Given the description of an element on the screen output the (x, y) to click on. 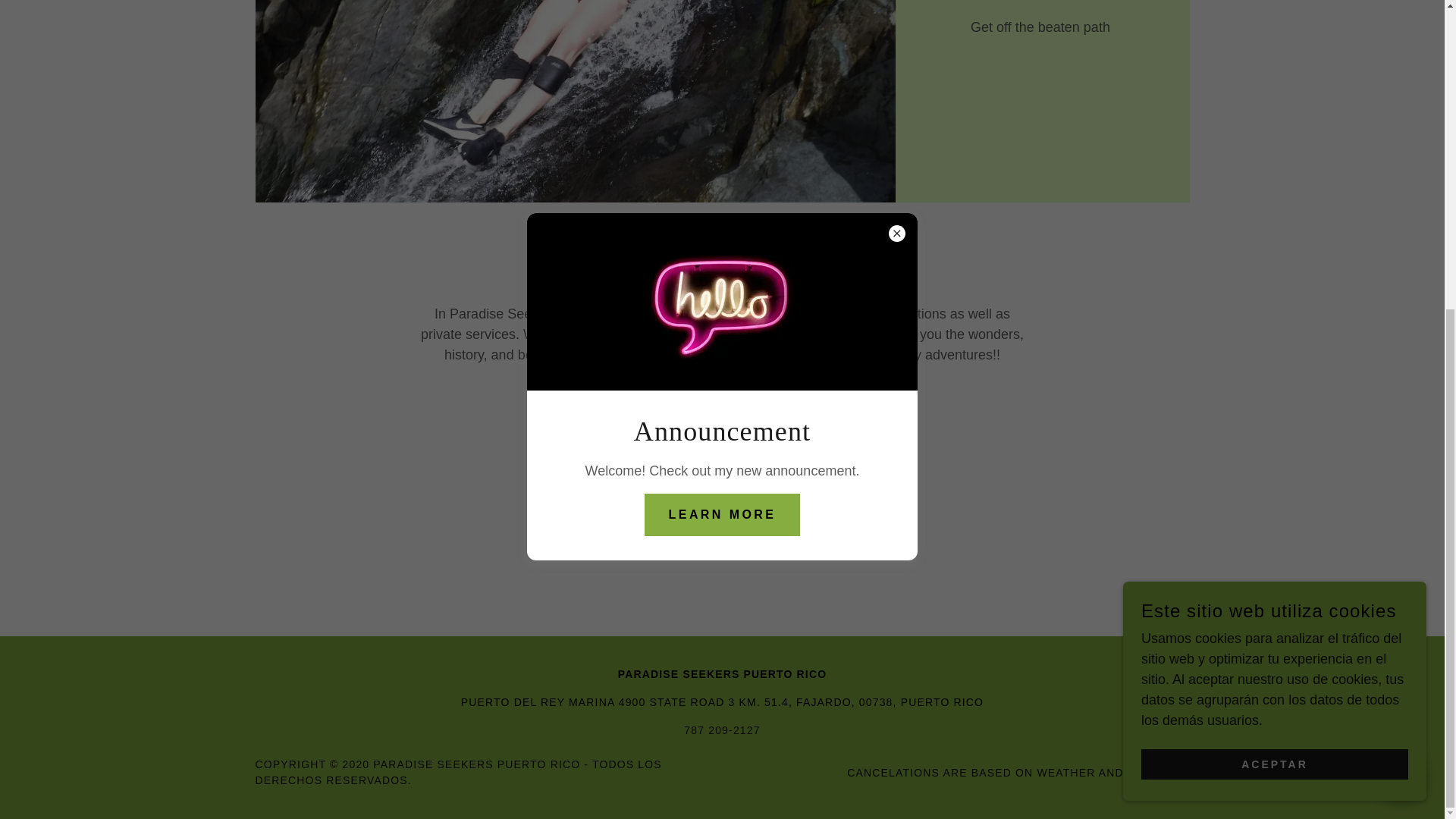
787 209-2127 (722, 729)
GET MORE INFORMATION (721, 404)
LEARN MORE (722, 24)
ACEPTAR (1274, 274)
